Given the description of an element on the screen output the (x, y) to click on. 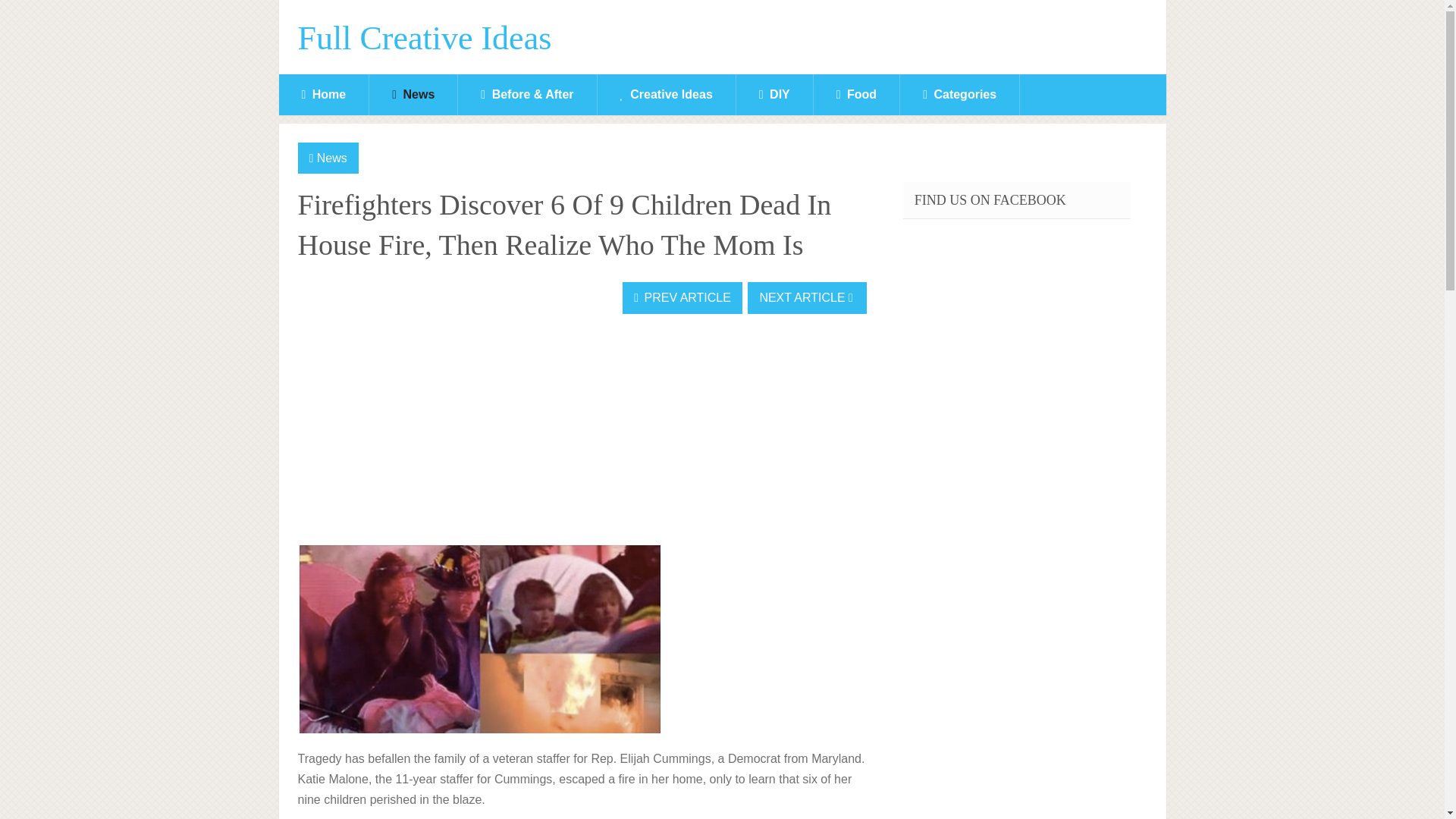
Home (324, 94)
Food (856, 94)
Full Creative Ideas (424, 38)
Categories (959, 94)
DIY (774, 94)
News (332, 157)
News (413, 94)
Advertisement (410, 431)
View all posts in News (332, 157)
PREV ARTICLE (682, 297)
Creative Ideas (665, 94)
NEXT ARTICLE (807, 297)
